Given the description of an element on the screen output the (x, y) to click on. 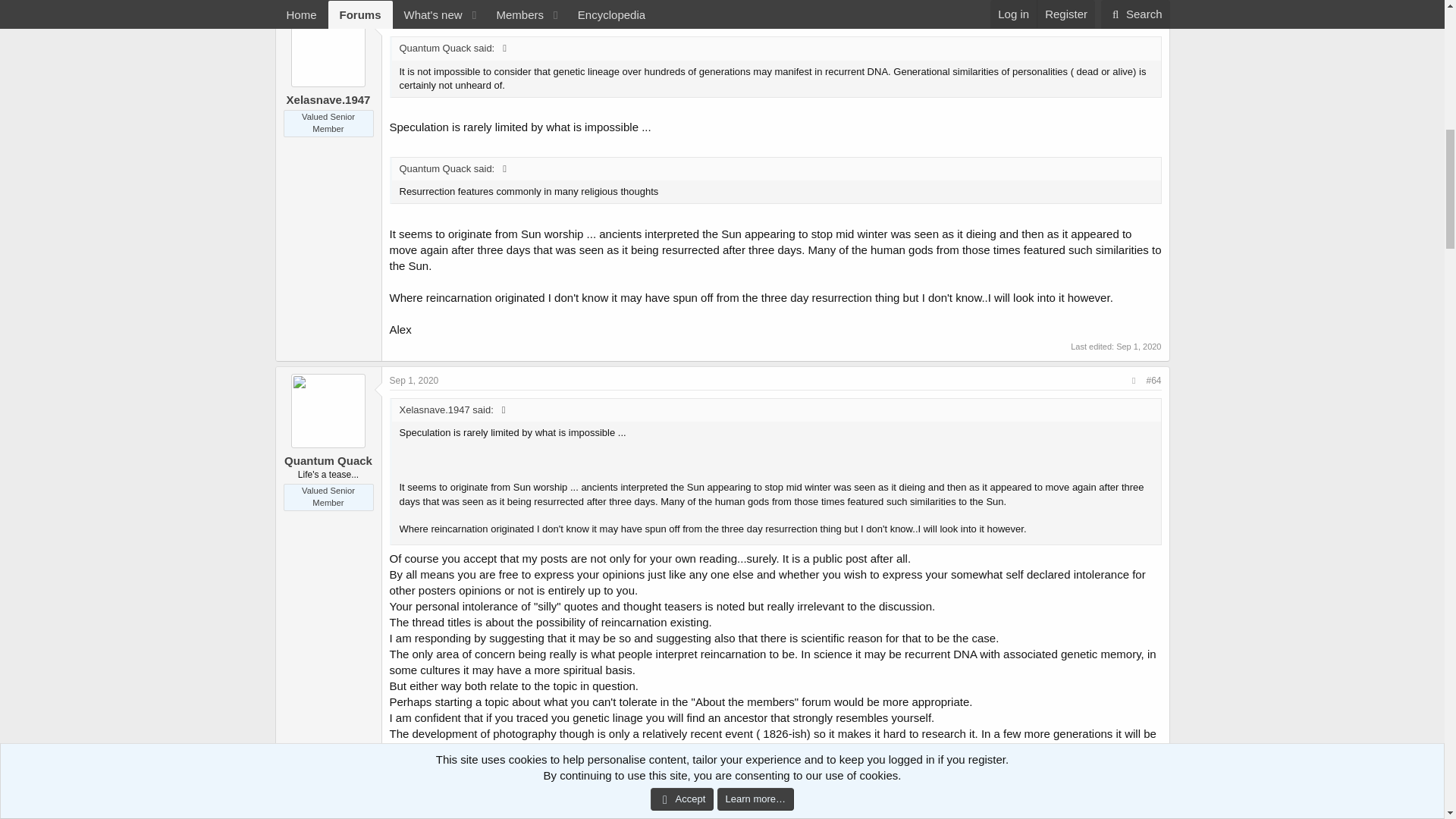
Sep 1, 2020 at 2:05 AM (414, 800)
Sep 1, 2020 at 2:06 AM (1138, 767)
Sep 1, 2020 at 1:51 AM (414, 380)
Sep 1, 2020 at 2:12 AM (1138, 346)
Sep 1, 2020 at 1:31 AM (414, 19)
